Given the description of an element on the screen output the (x, y) to click on. 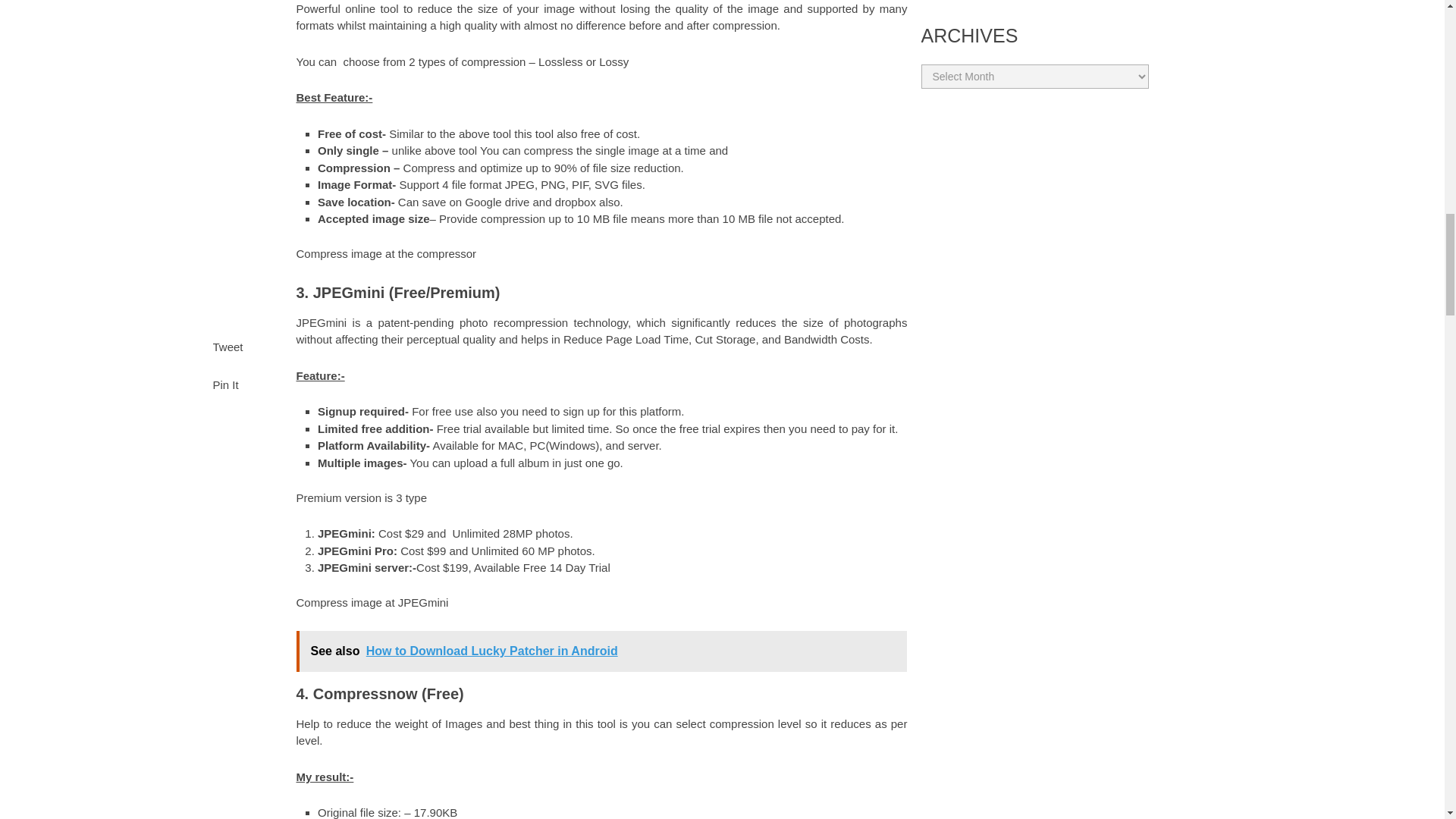
Compress image at the compressor (385, 253)
See also  How to Download Lucky Patcher in Android (601, 650)
Compress image at JPEGmini (371, 602)
